Given the description of an element on the screen output the (x, y) to click on. 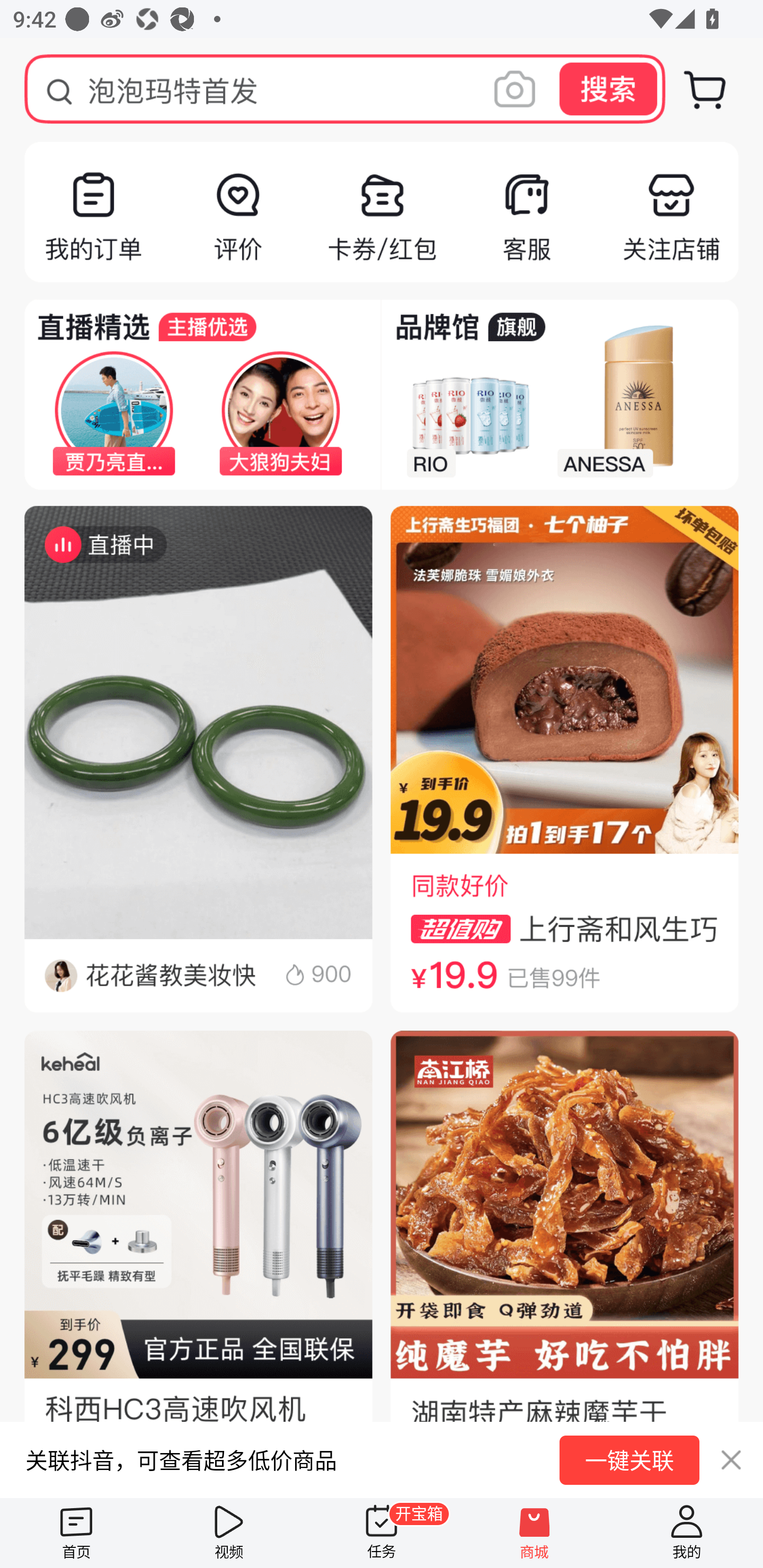
关联抖音，可查看超多低价商品 一键关联 (381, 1459)
一键关联 (629, 1460)
首页 (76, 1532)
视频 (228, 1532)
任务 开宝箱 (381, 1532)
商城 (533, 1532)
我的 (686, 1532)
